Given the description of an element on the screen output the (x, y) to click on. 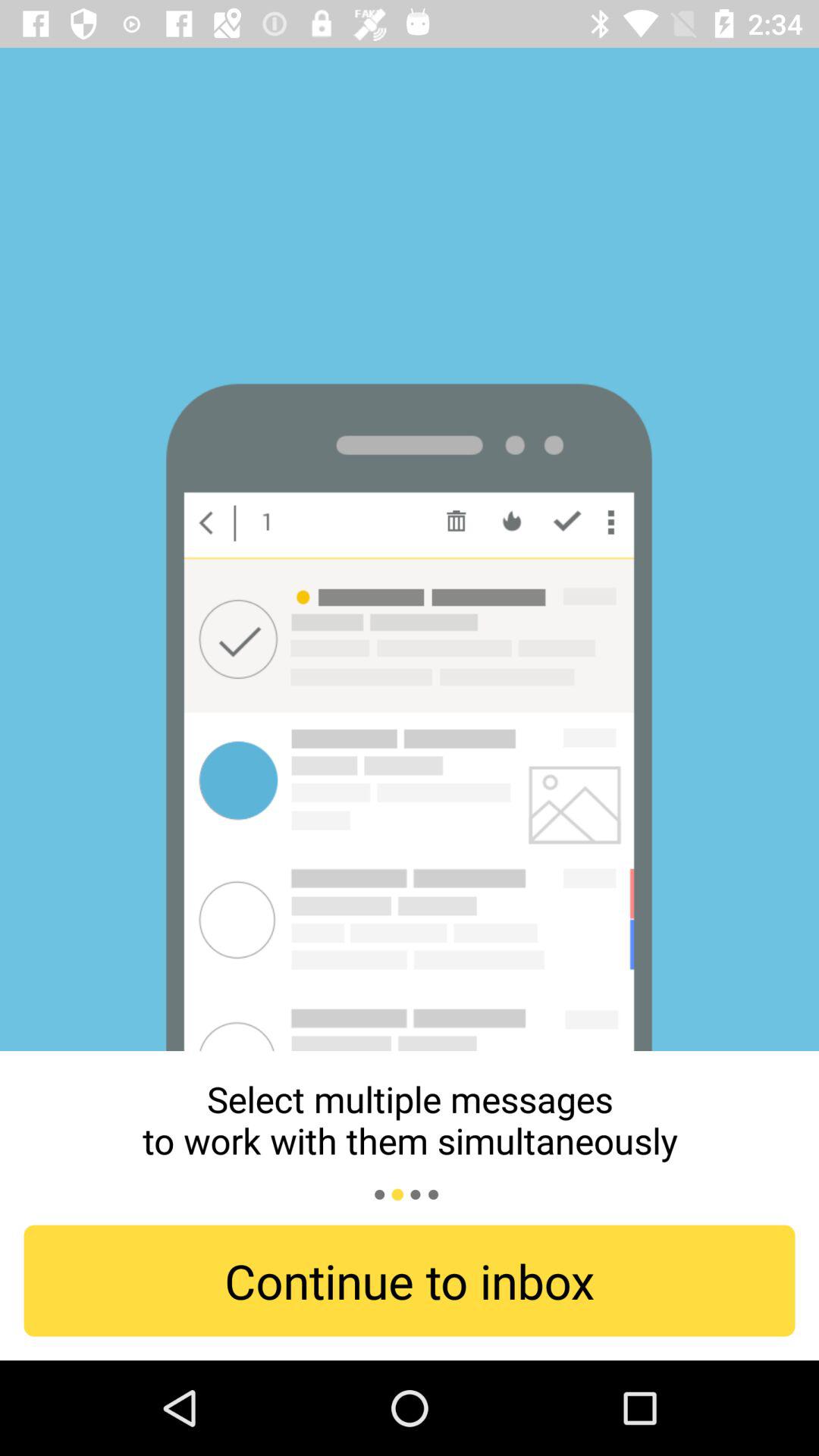
press continue to inbox item (409, 1280)
